Given the description of an element on the screen output the (x, y) to click on. 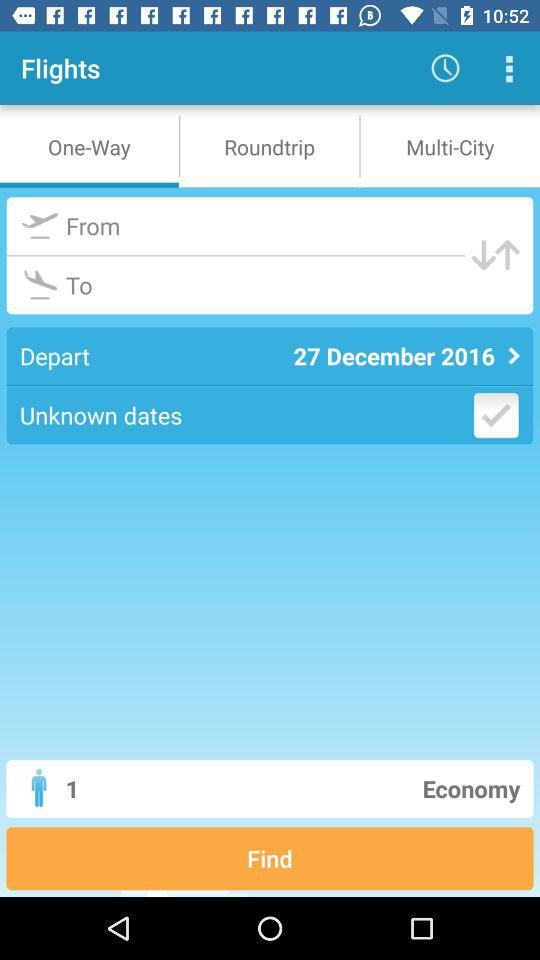
turn on item above the multi-city (508, 67)
